Given the description of an element on the screen output the (x, y) to click on. 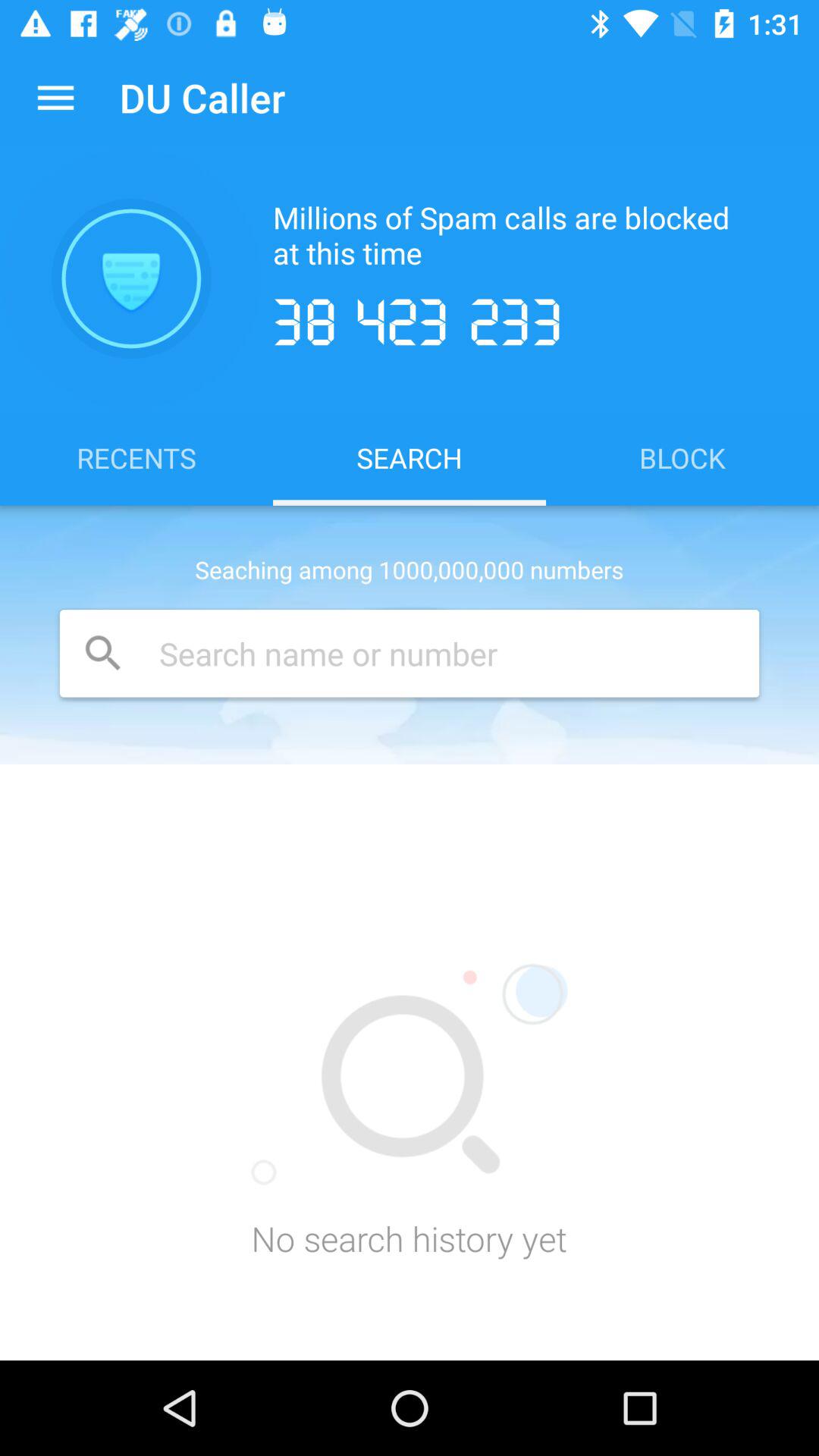
tap item to the left of search (136, 457)
